Given the description of an element on the screen output the (x, y) to click on. 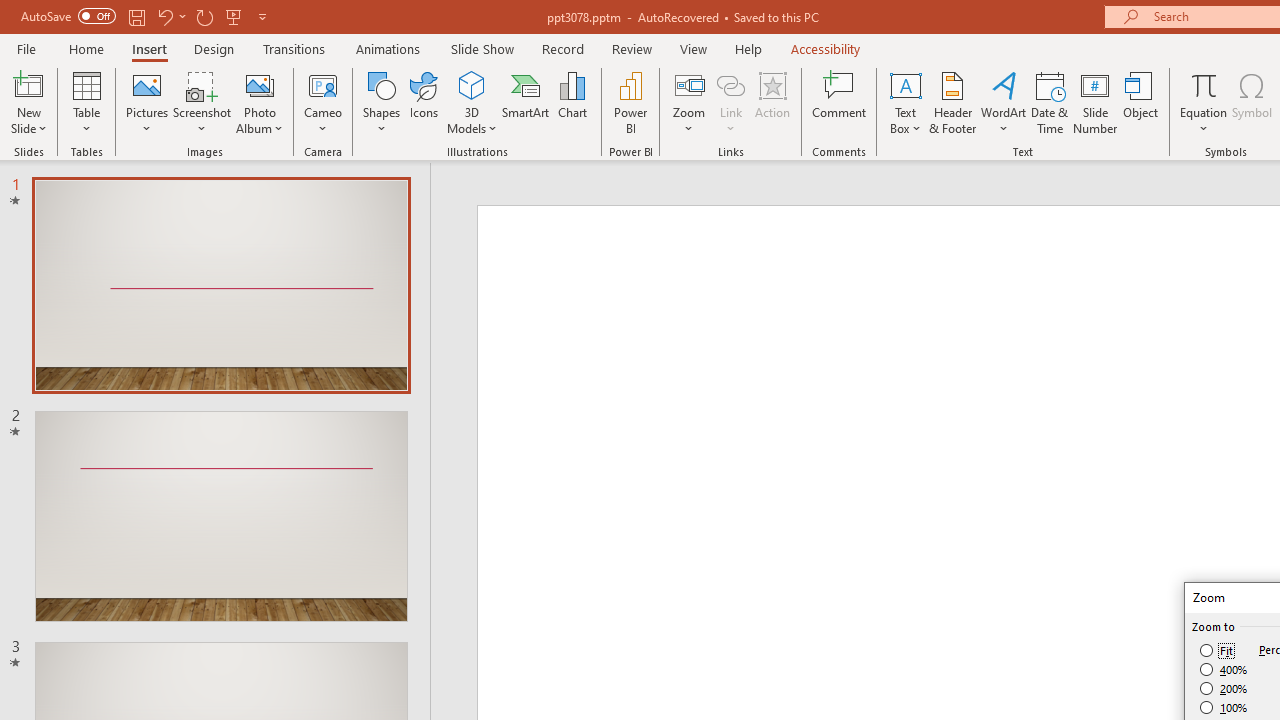
Equation (1203, 102)
Date & Time... (1050, 102)
Shapes (381, 102)
Comment (839, 102)
Power BI (630, 102)
Link (731, 102)
Link (731, 84)
Header & Footer... (952, 102)
400% (1224, 669)
3D Models (472, 84)
